Given the description of an element on the screen output the (x, y) to click on. 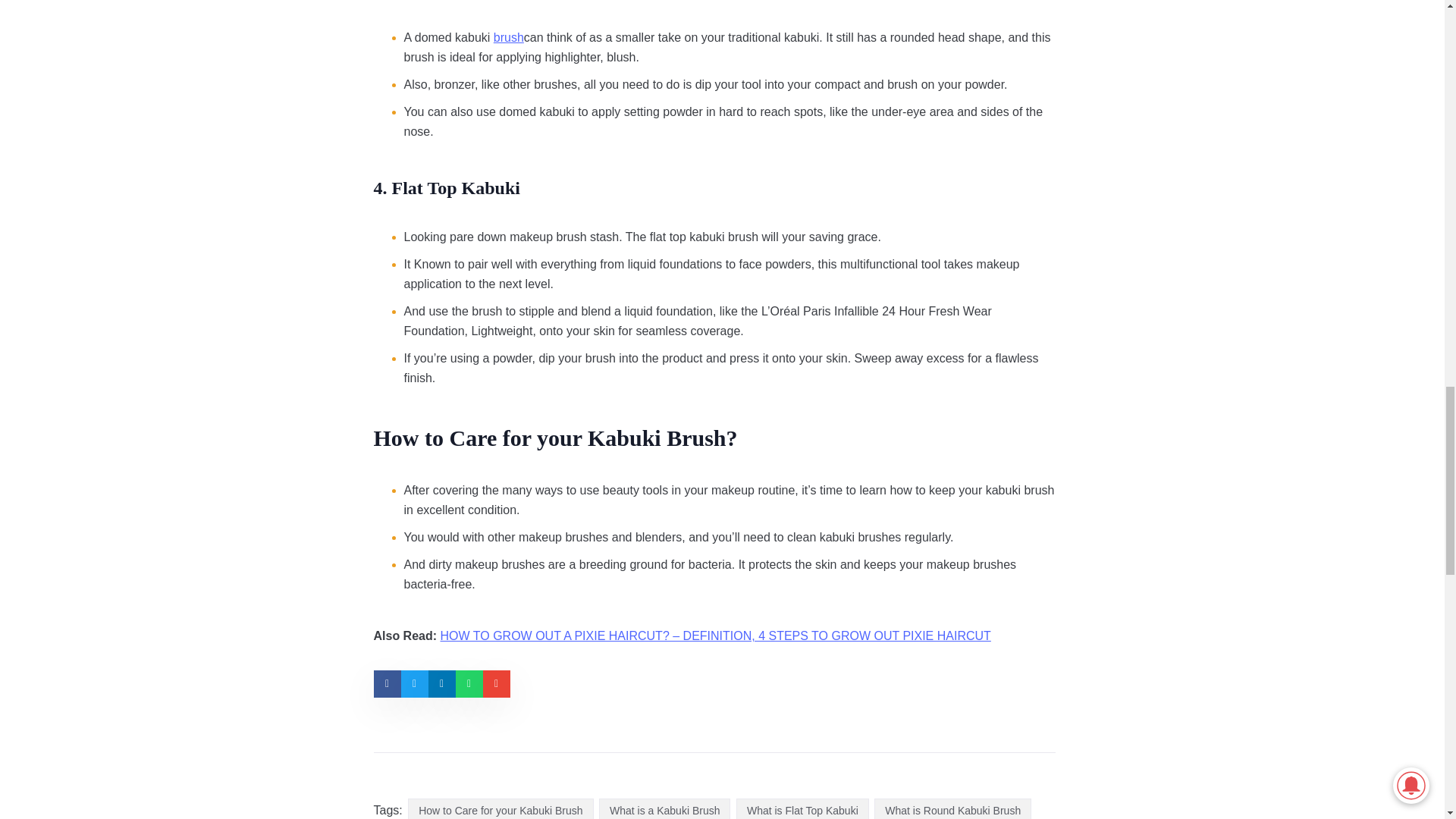
What is a Kabuki Brush (664, 808)
How to Care for your Kabuki Brush (499, 808)
brush (508, 37)
What is Round Kabuki Brush (952, 808)
What is Flat Top Kabuki (802, 808)
